Given the description of an element on the screen output the (x, y) to click on. 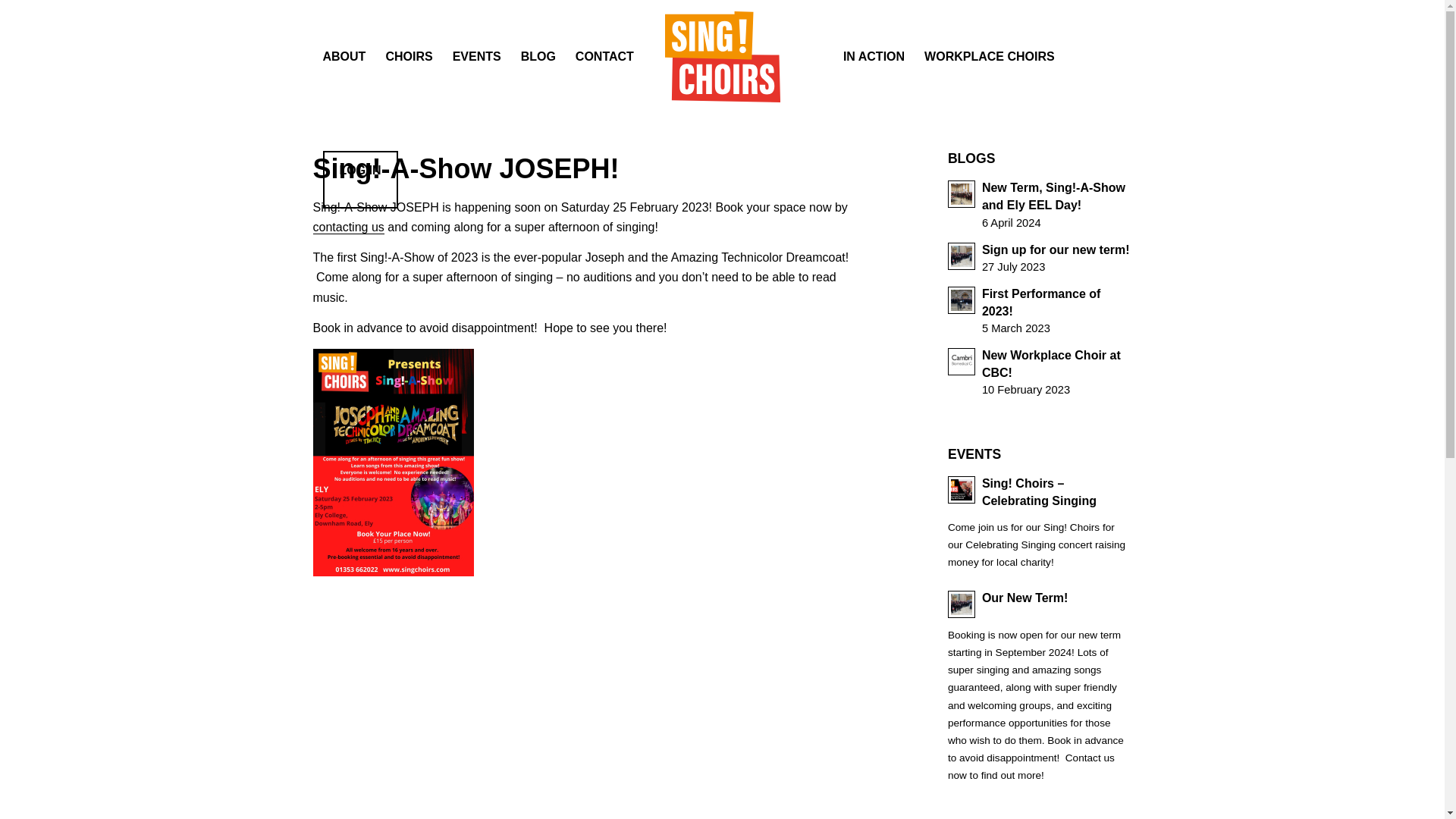
First Performance of 2023! (1039, 310)
New Term, Sing!-A-Show and Ely EEL Day! (1039, 203)
Our New Term! (1039, 603)
WORKPLACE CHOIRS (1039, 257)
contacting us (989, 56)
Sign up for our new term! (1039, 203)
New Workplace Choir at CBC! (348, 227)
Our New Term! (1039, 257)
